Given the description of an element on the screen output the (x, y) to click on. 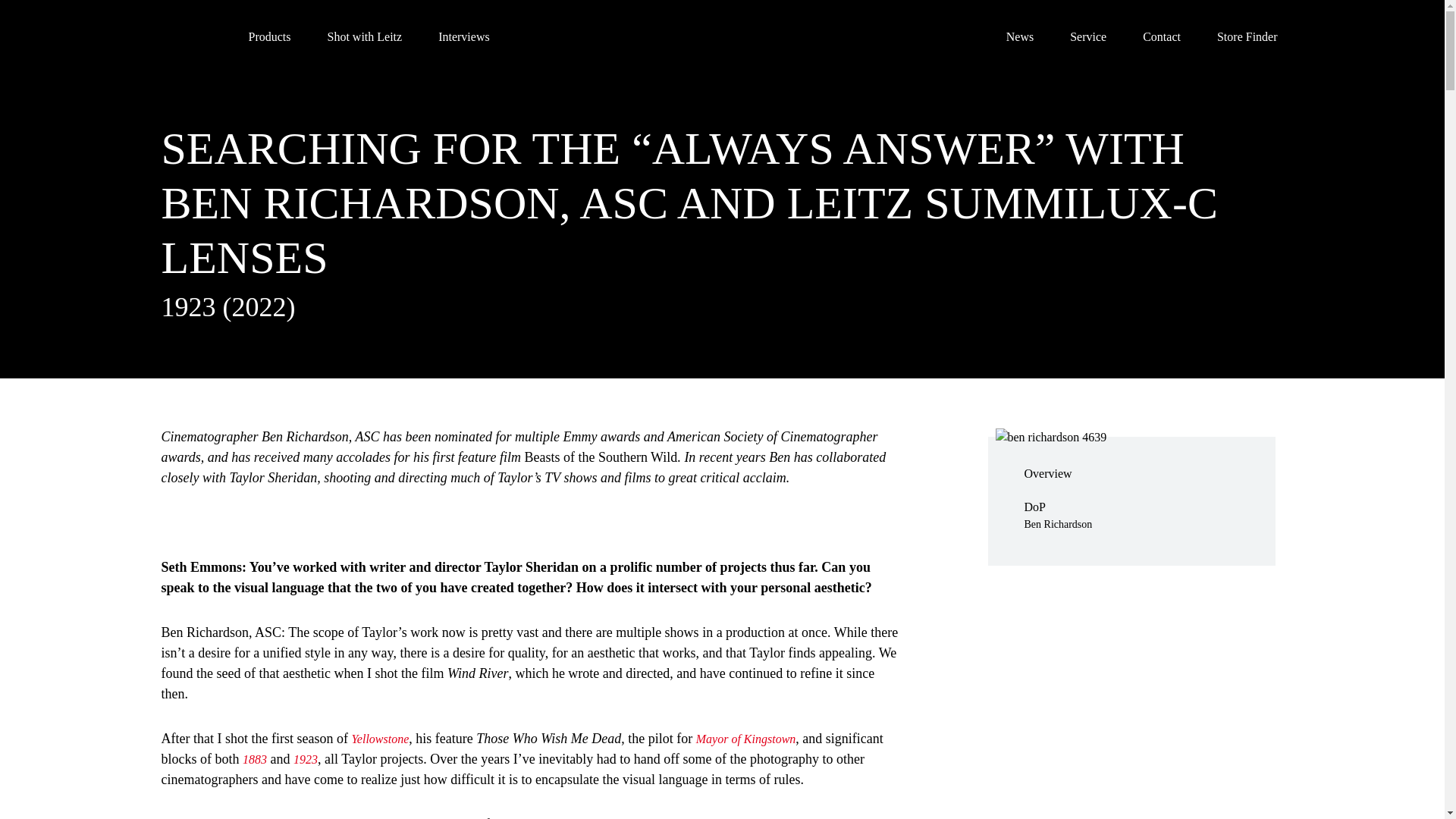
Leitz, all rights reserved (183, 37)
1883 (254, 758)
Shot with Leitz (365, 36)
Contact (1161, 36)
News (1019, 36)
Service (1088, 36)
Mayor of Kingstown (745, 738)
Interviews (463, 36)
1923 (305, 758)
Store Finder (1247, 36)
Yellowstone (379, 738)
Products (269, 36)
